Given the description of an element on the screen output the (x, y) to click on. 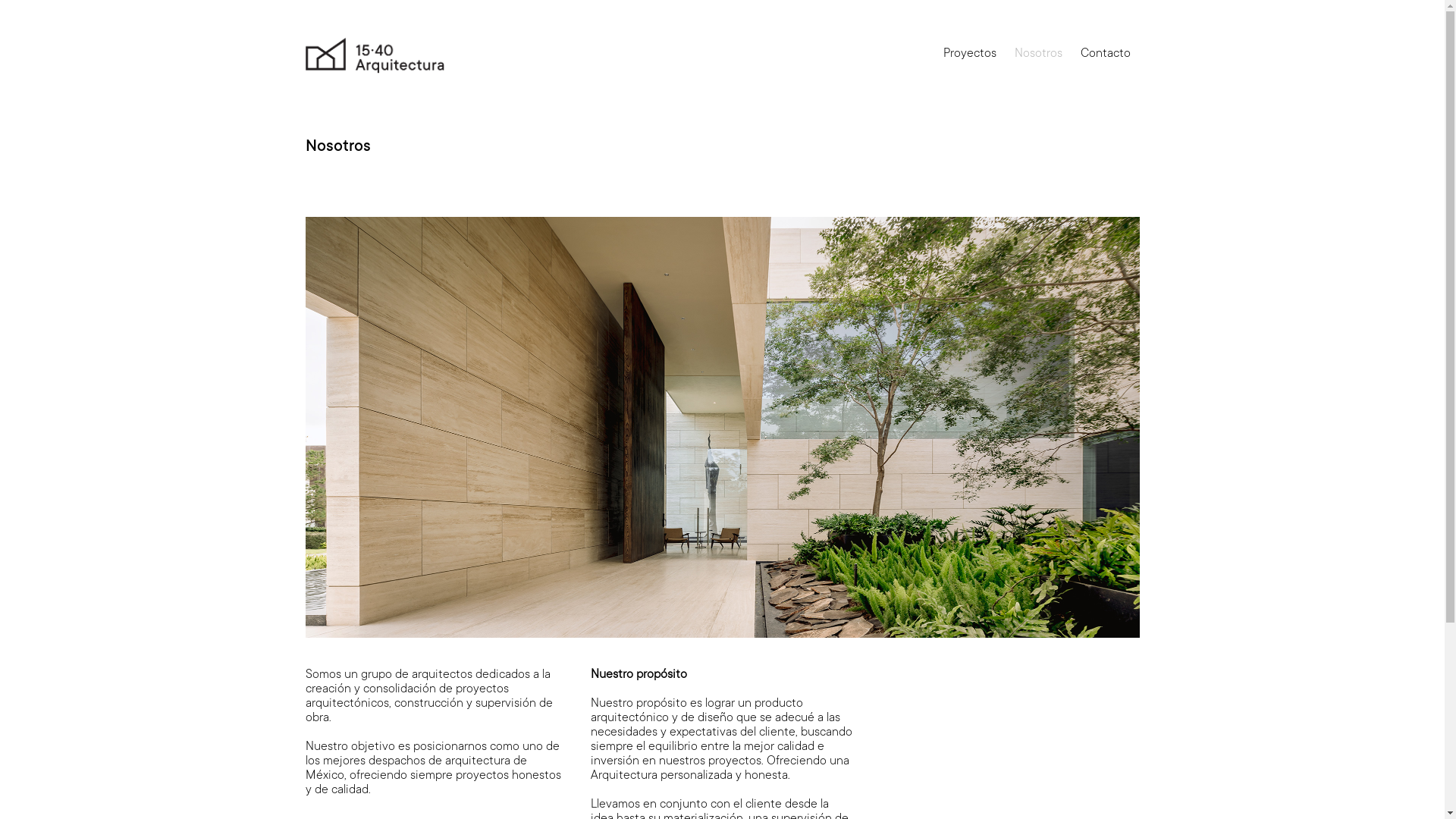
Contacto Element type: text (1104, 53)
Nosotros Element type: text (1038, 53)
Proyectos Element type: text (969, 53)
